Given the description of an element on the screen output the (x, y) to click on. 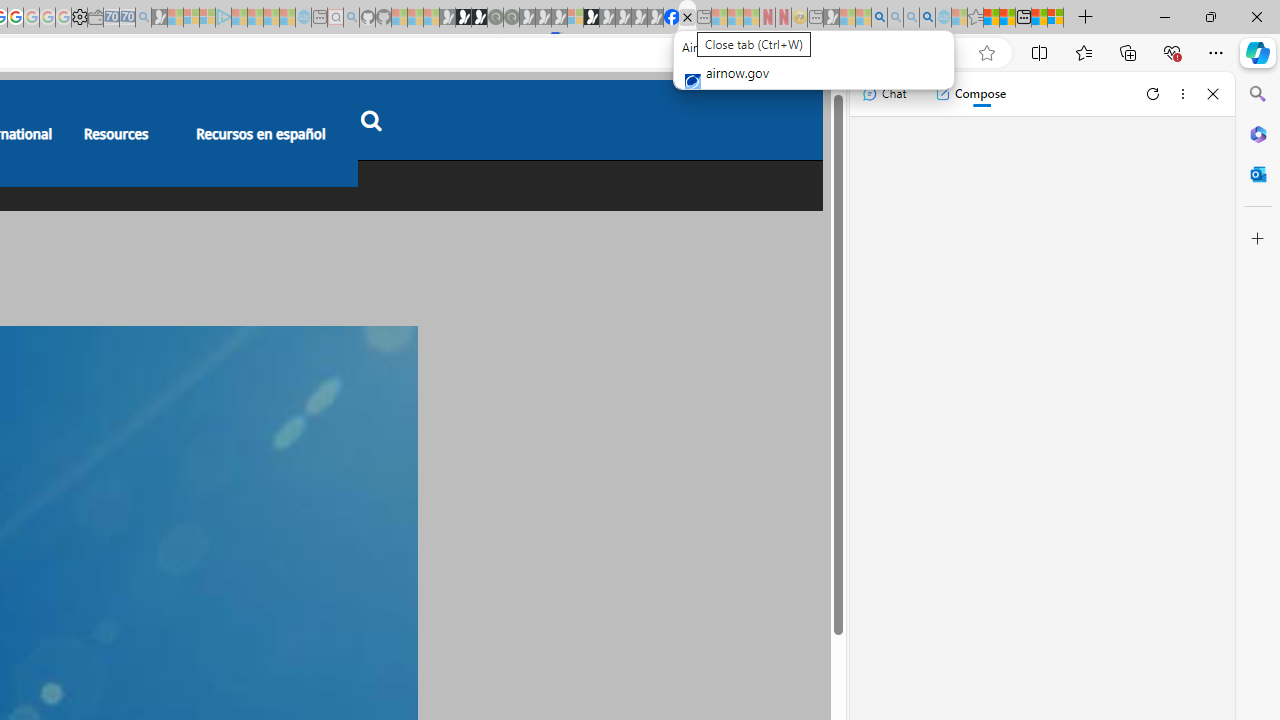
MSN - Sleeping (831, 17)
Bing AI - Search (879, 17)
AirNow.gov (687, 17)
Sign in to your account - Sleeping (575, 17)
